Given the description of an element on the screen output the (x, y) to click on. 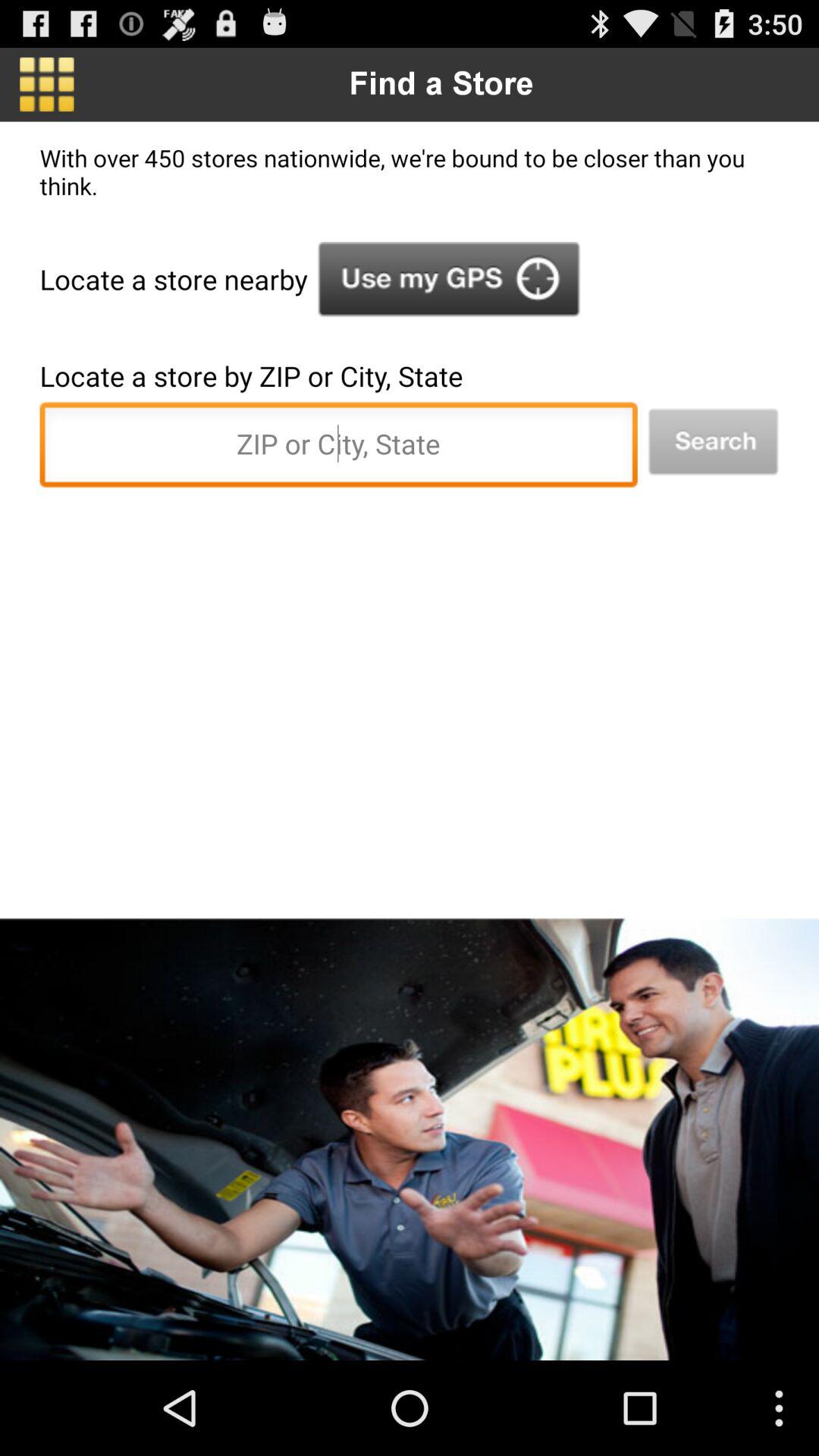
search by location (713, 442)
